Given the description of an element on the screen output the (x, y) to click on. 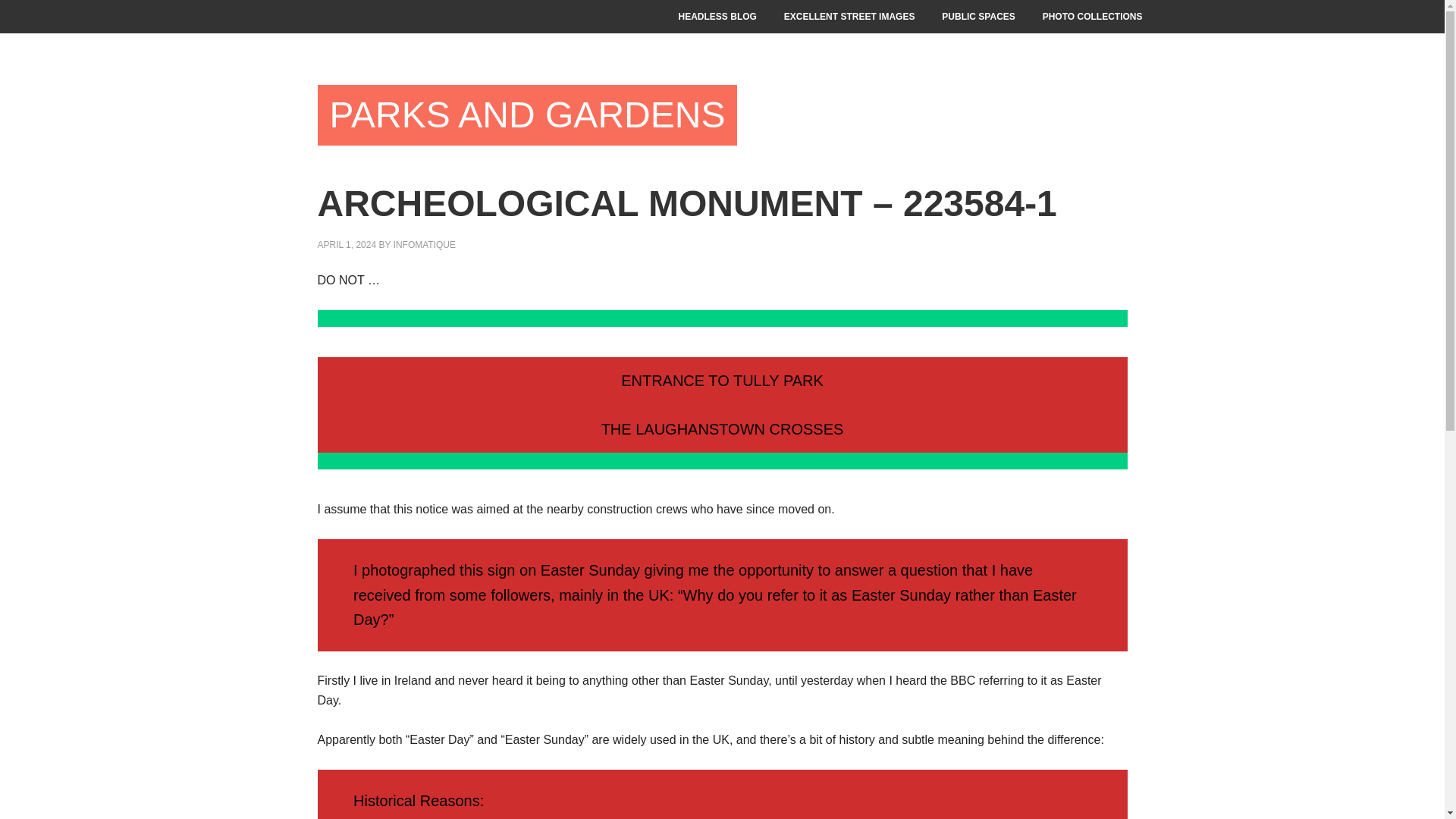
HEADLESS BLOG (717, 16)
PUBLIC SPACES (978, 16)
PARKS AND GARDENS (526, 115)
PHOTO COLLECTIONS (1092, 16)
ENTRANCE TO TULLY PARK (721, 380)
EXCELLENT STREET IMAGES (849, 16)
THE LAUGHANSTOWN CROSSES (721, 428)
INFOMATIQUE (424, 244)
